Given the description of an element on the screen output the (x, y) to click on. 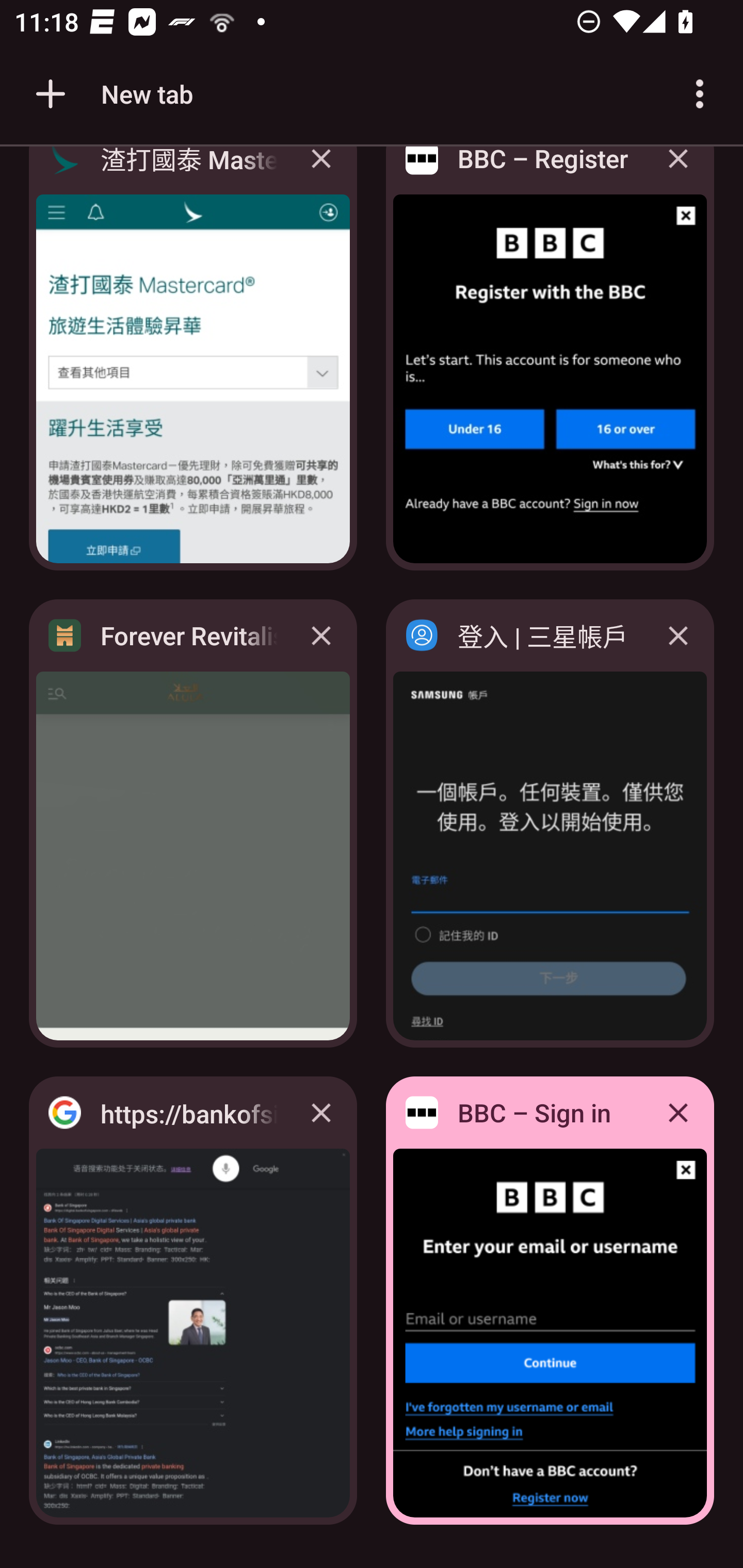
New tab (111, 93)
Customize and control Google Chrome (699, 93)
Close 渣打國泰 Mastercard－優先理財 tab (320, 173)
Close BBC – Register tab (677, 173)
登入 | 三星帳戶 登入 | 三星帳戶, tab Close 登入 | 三星帳戶 tab (549, 822)
Close Forever Revitalising | Experience AlUla tab (320, 635)
Close 登入 | 三星帳戶 tab (677, 635)
Close BBC – Sign in tab (677, 1112)
